Given the description of an element on the screen output the (x, y) to click on. 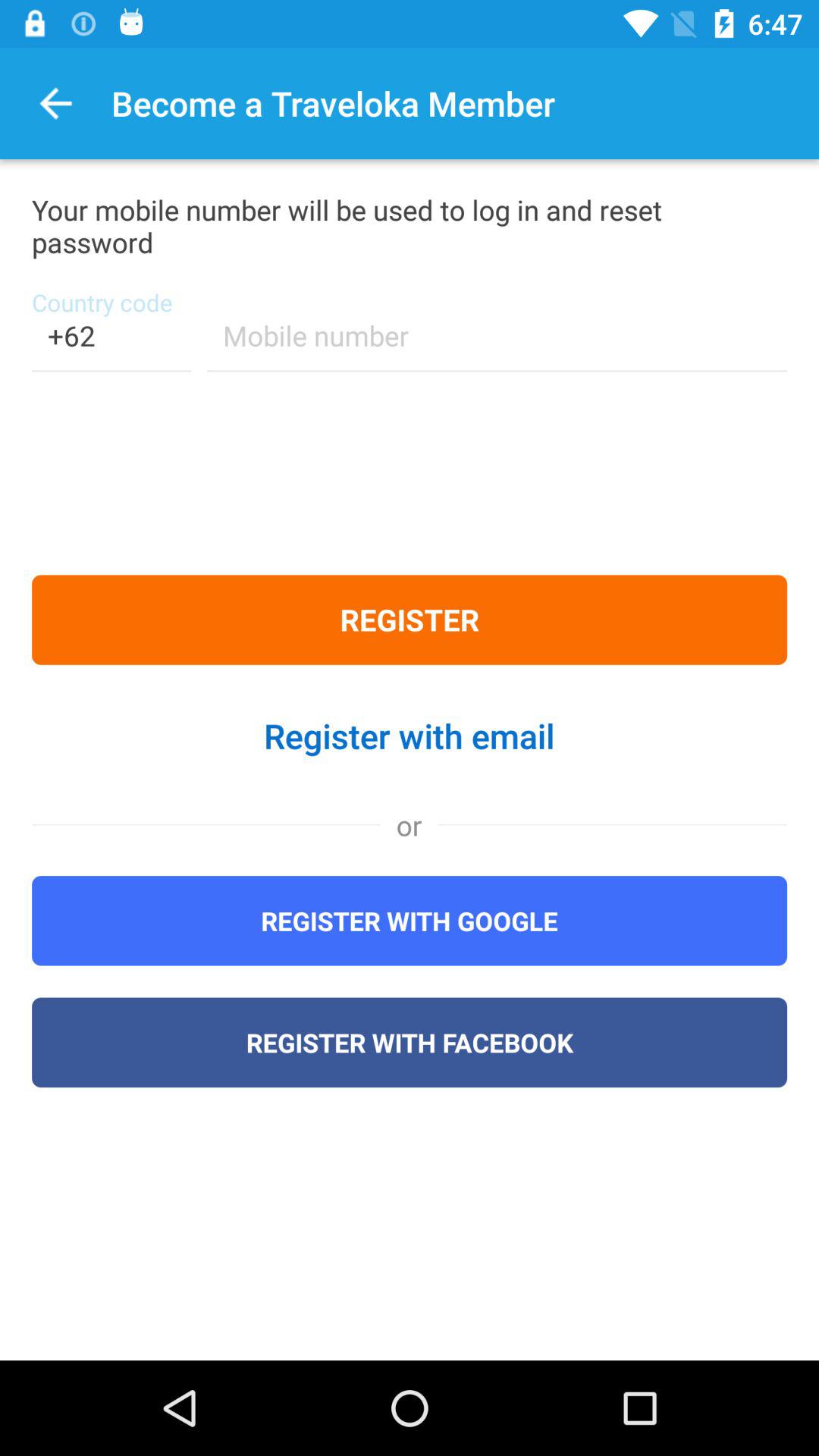
enter mobile number (497, 345)
